Given the description of an element on the screen output the (x, y) to click on. 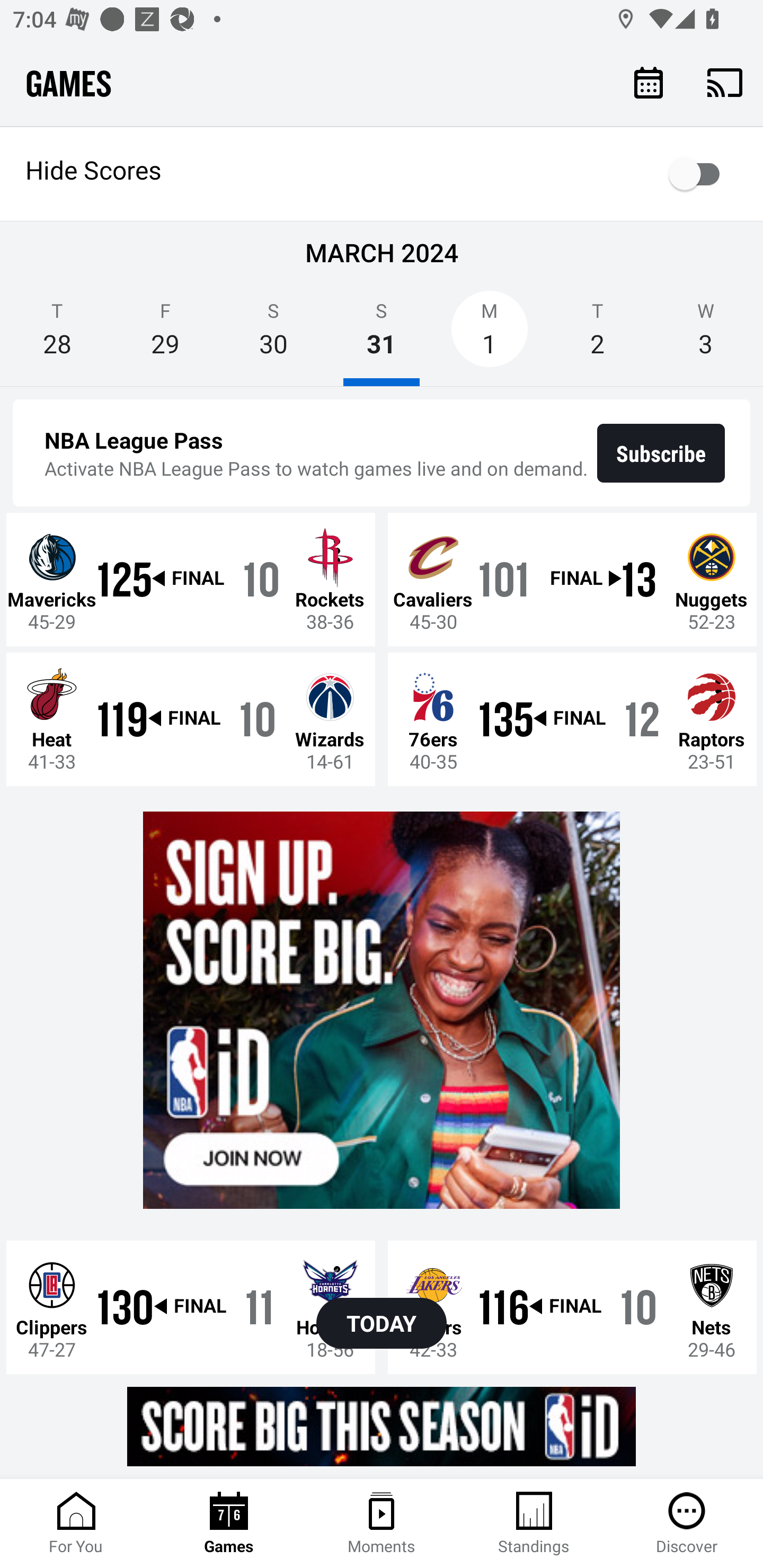
Cast. Disconnected (724, 82)
Calendar (648, 81)
Hide Scores (381, 174)
T 28 (57, 334)
F 29 (165, 334)
S 30 (273, 334)
S 31 (381, 334)
M 1 (489, 334)
T 2 (597, 334)
W 3 (705, 334)
Subscribe (660, 452)
Mavericks 45-29 125 FINAL 107 Rockets 38-36 (190, 579)
Cavaliers 45-30 101 FINAL 130 Nuggets 52-23 (571, 579)
Heat 41-33 119 FINAL 107 Wizards 14-61 (190, 718)
76ers 40-35 135 FINAL 120 Raptors 23-51 (571, 718)
g5nqqygr7owph (381, 1010)
Clippers 47-27 130 FINAL 118 Hornets 18-56 (190, 1306)
Lakers 42-33 116 FINAL 104 Nets 29-46 (571, 1306)
TODAY (381, 1323)
g5nqqygr7owph (381, 1426)
For You (76, 1523)
Moments (381, 1523)
Standings (533, 1523)
Discover (686, 1523)
